Given the description of an element on the screen output the (x, y) to click on. 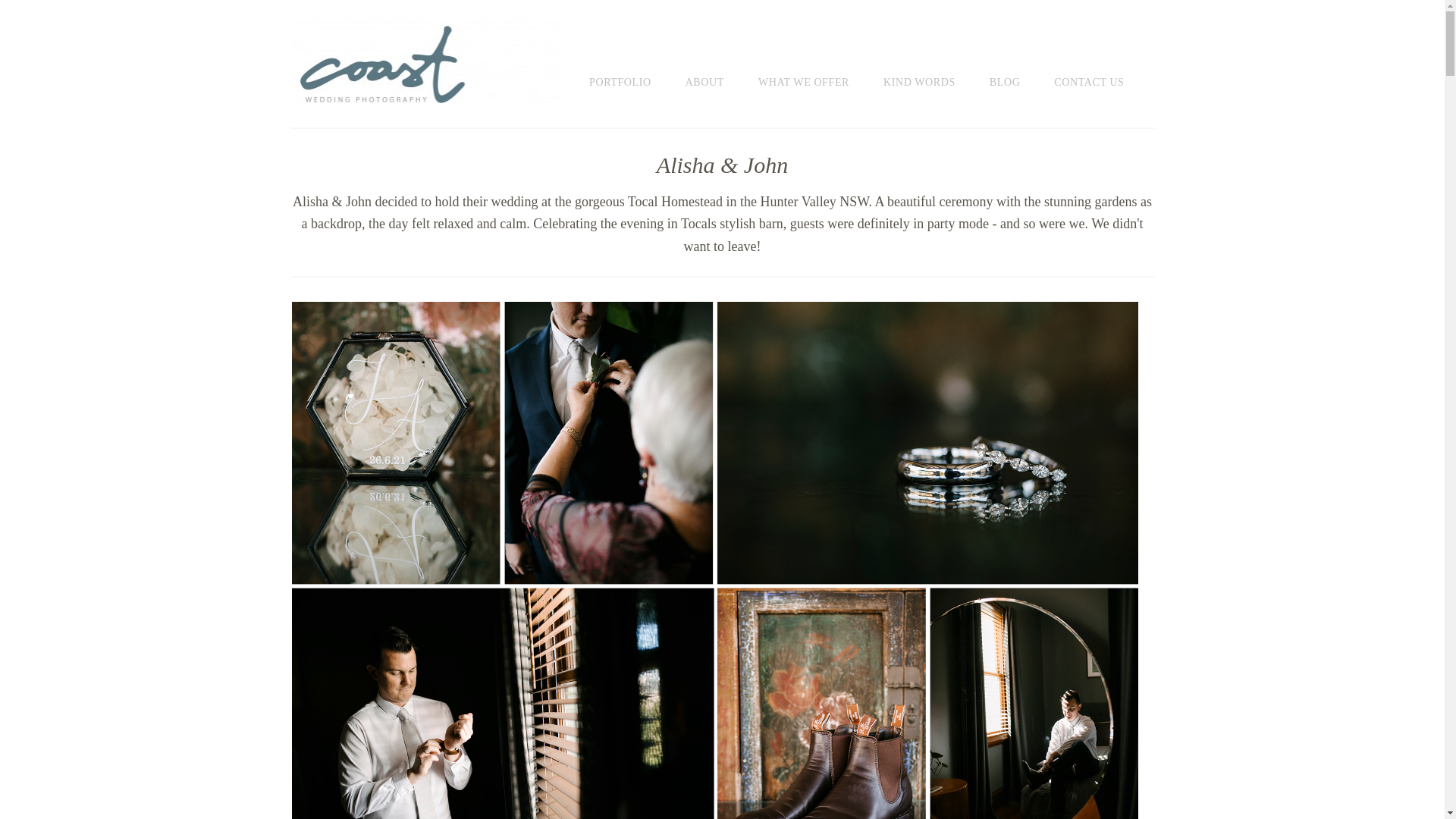
PORTFOLIO (635, 66)
CONTACT US (1104, 66)
ABOUT (719, 66)
central coast wedding photography (427, 63)
KIND WORDS (934, 66)
WHAT WE OFFER (818, 66)
BLOG (1020, 66)
